Given the description of an element on the screen output the (x, y) to click on. 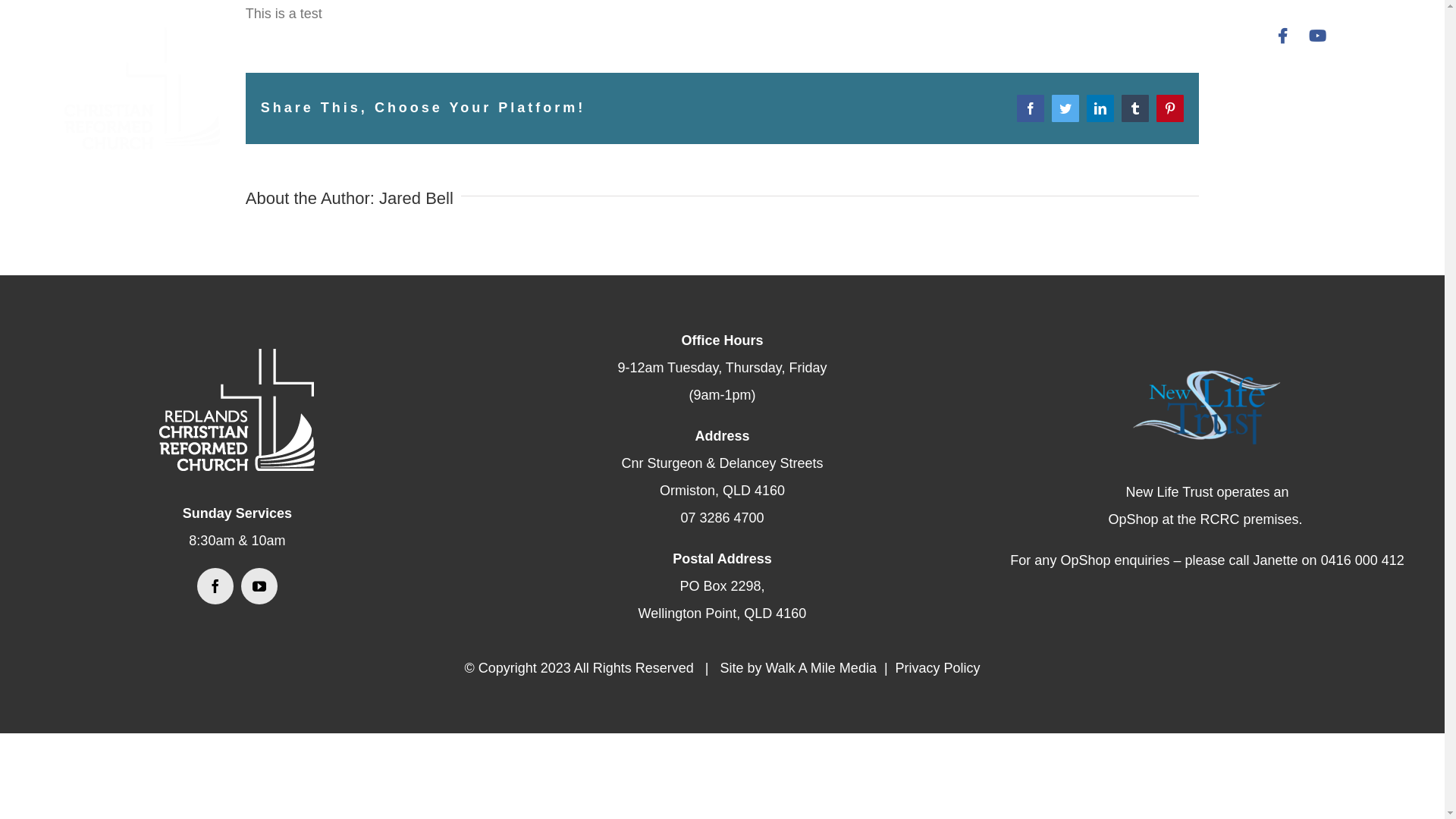
Tumblr Element type: text (1134, 108)
LinkedIn Element type: text (1099, 108)
Search Element type: hover (1354, 35)
Privacy Policy Element type: text (937, 667)
Twitter Element type: text (1065, 108)
Contact Element type: text (1116, 35)
Give Online Element type: text (1212, 35)
Facebook Element type: text (1030, 108)
Walk A Mile Media Element type: text (820, 667)
Sermons Element type: text (931, 35)
Jared Bell Element type: text (416, 197)
About Us Element type: text (744, 35)
Pinterest Element type: text (1169, 108)
Ministries Element type: text (838, 35)
Resources Element type: text (1025, 35)
07 3286 4700 Element type: text (721, 517)
RRC_logo_wht Element type: hover (236, 409)
0416 000 412 Element type: text (1362, 559)
Home Element type: text (667, 35)
